Given the description of an element on the screen output the (x, y) to click on. 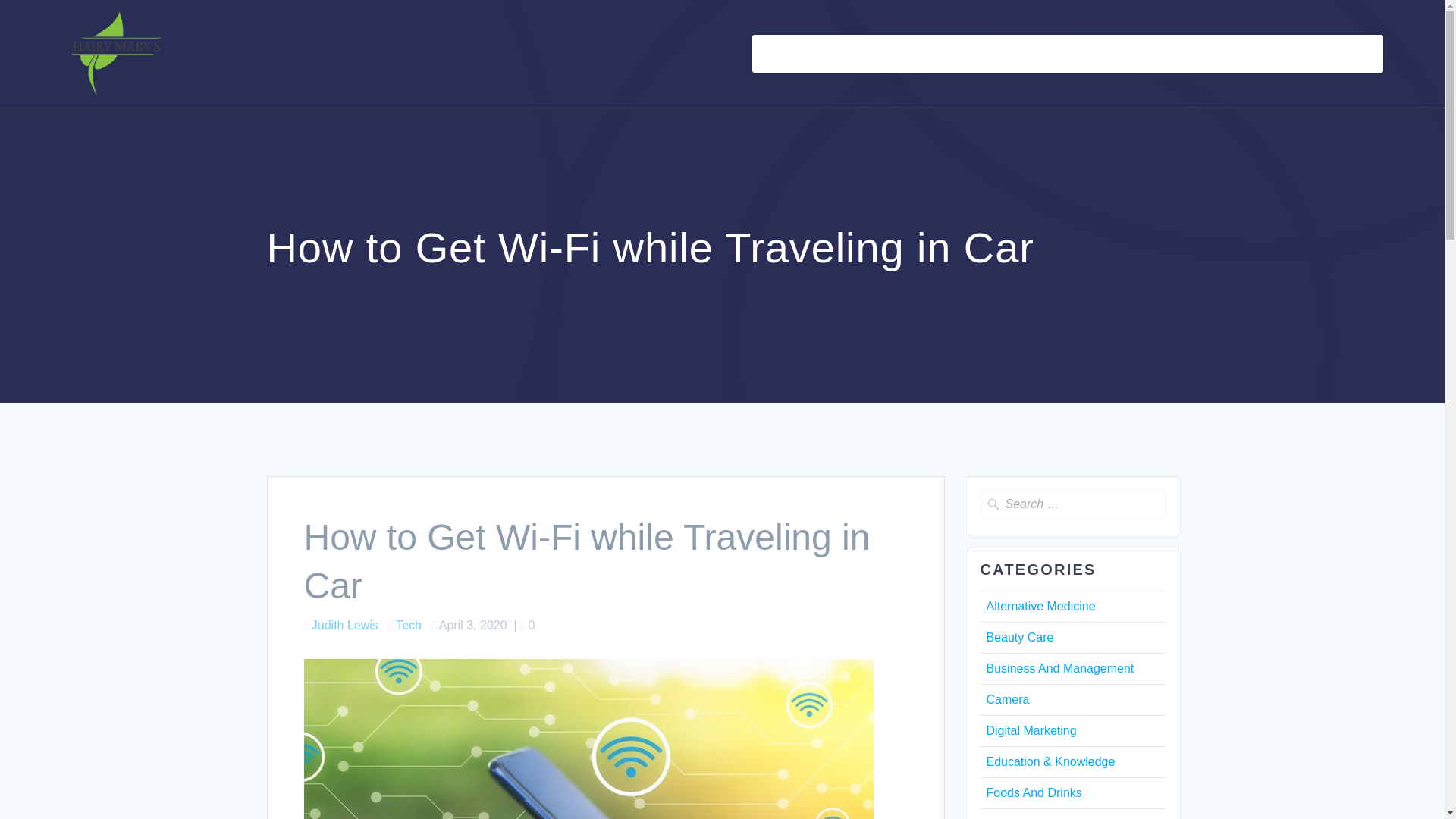
Alternative Medicine (1039, 605)
Tech (409, 625)
HOME (778, 53)
Judith Lewis (344, 625)
CONTACT (1224, 53)
PRIVACY POLICY (1322, 53)
Posts by Judith Lewis (344, 625)
Digital Marketing (1030, 730)
BLOG (833, 53)
Business And Management (1059, 667)
Camera (1007, 698)
BEAUTY CARE (914, 53)
ABOUT US (1143, 53)
Foods And Drinks (1033, 792)
Beauty Care (1018, 636)
